Given the description of an element on the screen output the (x, y) to click on. 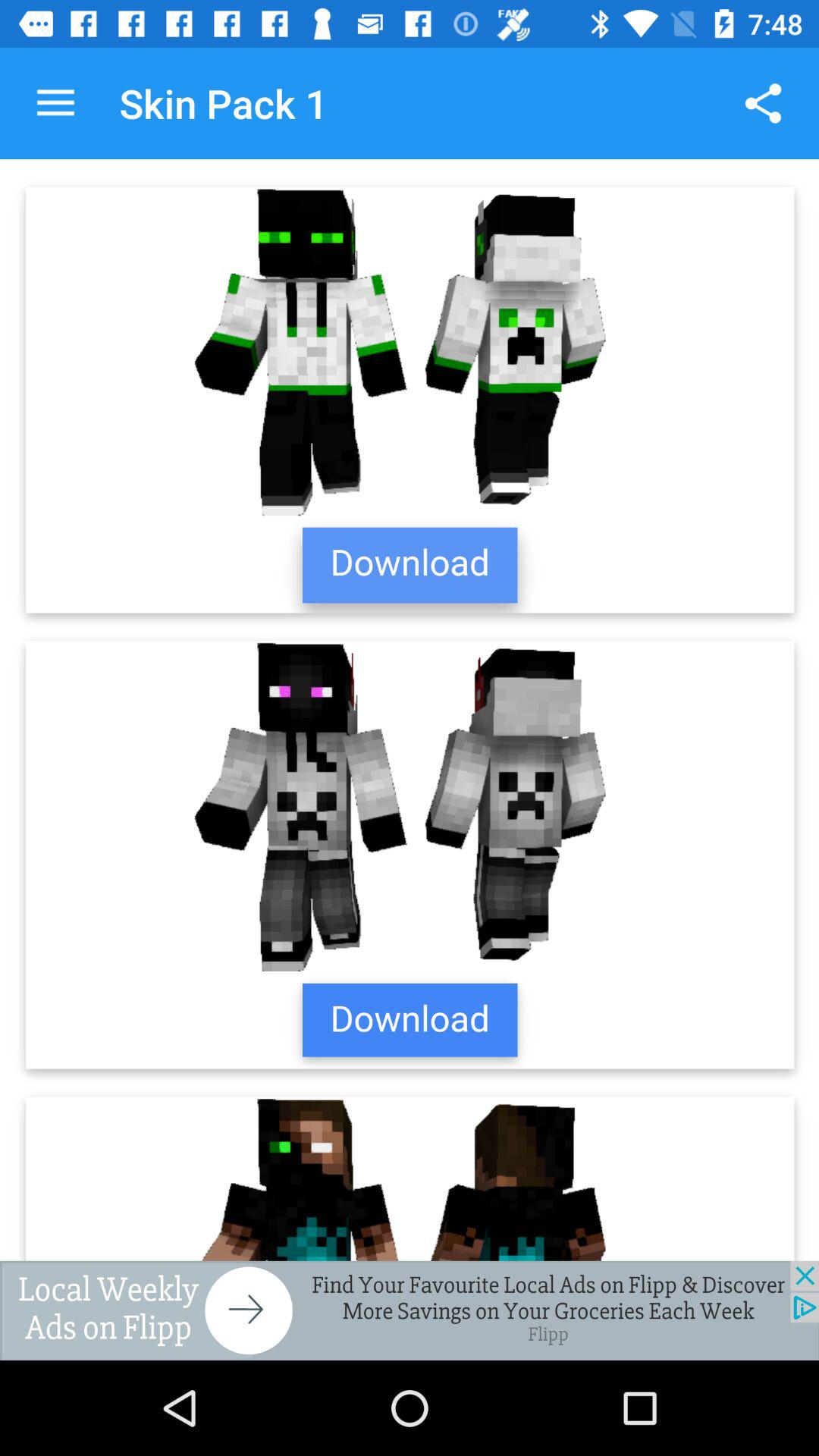
download skins pack (409, 709)
